Given the description of an element on the screen output the (x, y) to click on. 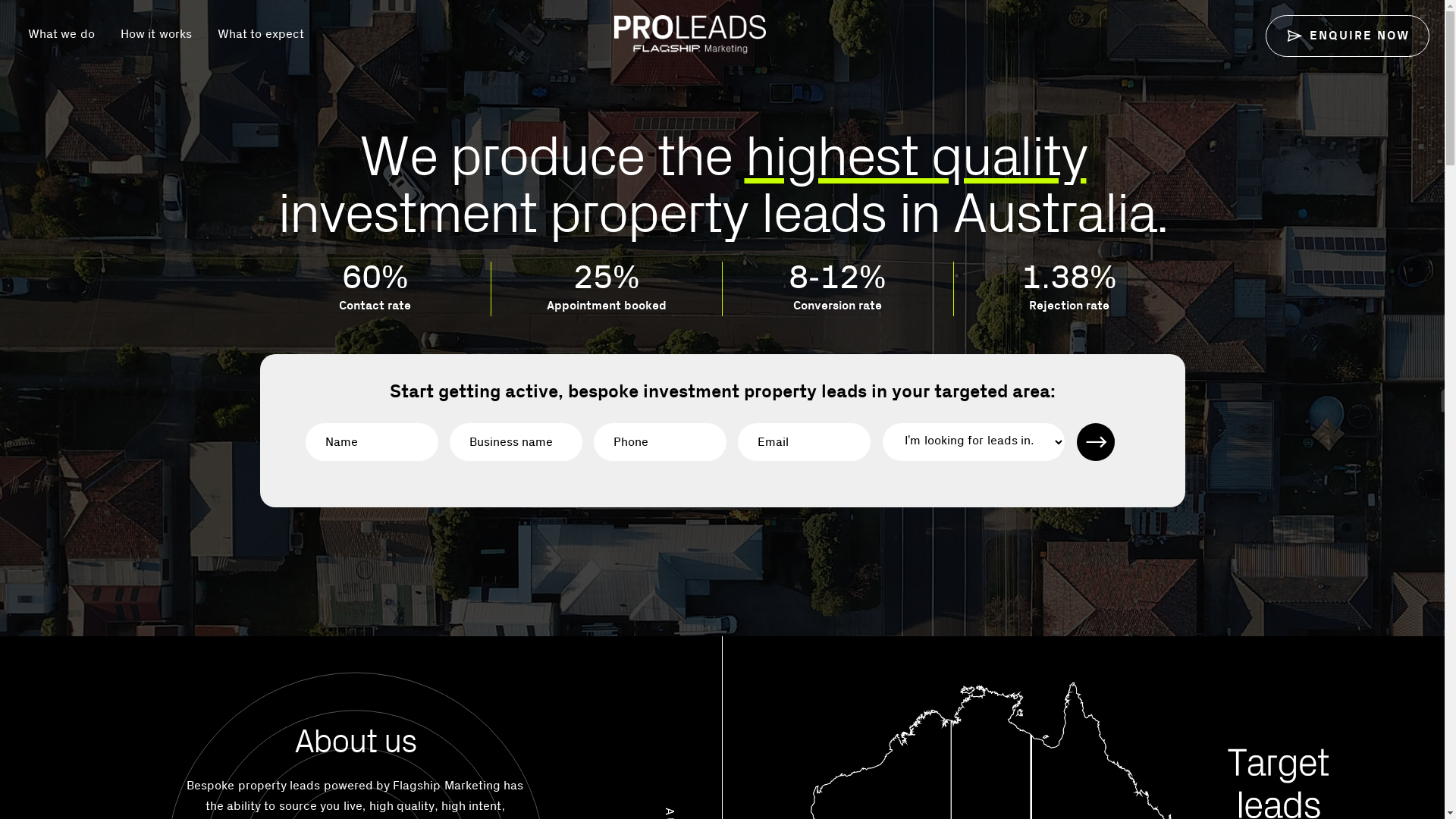
ENQUIRE NOW Element type: text (1347, 35)
What we do Element type: text (61, 34)
How it works Element type: text (155, 34)
Submit Element type: text (1095, 442)
What to expect Element type: text (260, 34)
